Given the description of an element on the screen output the (x, y) to click on. 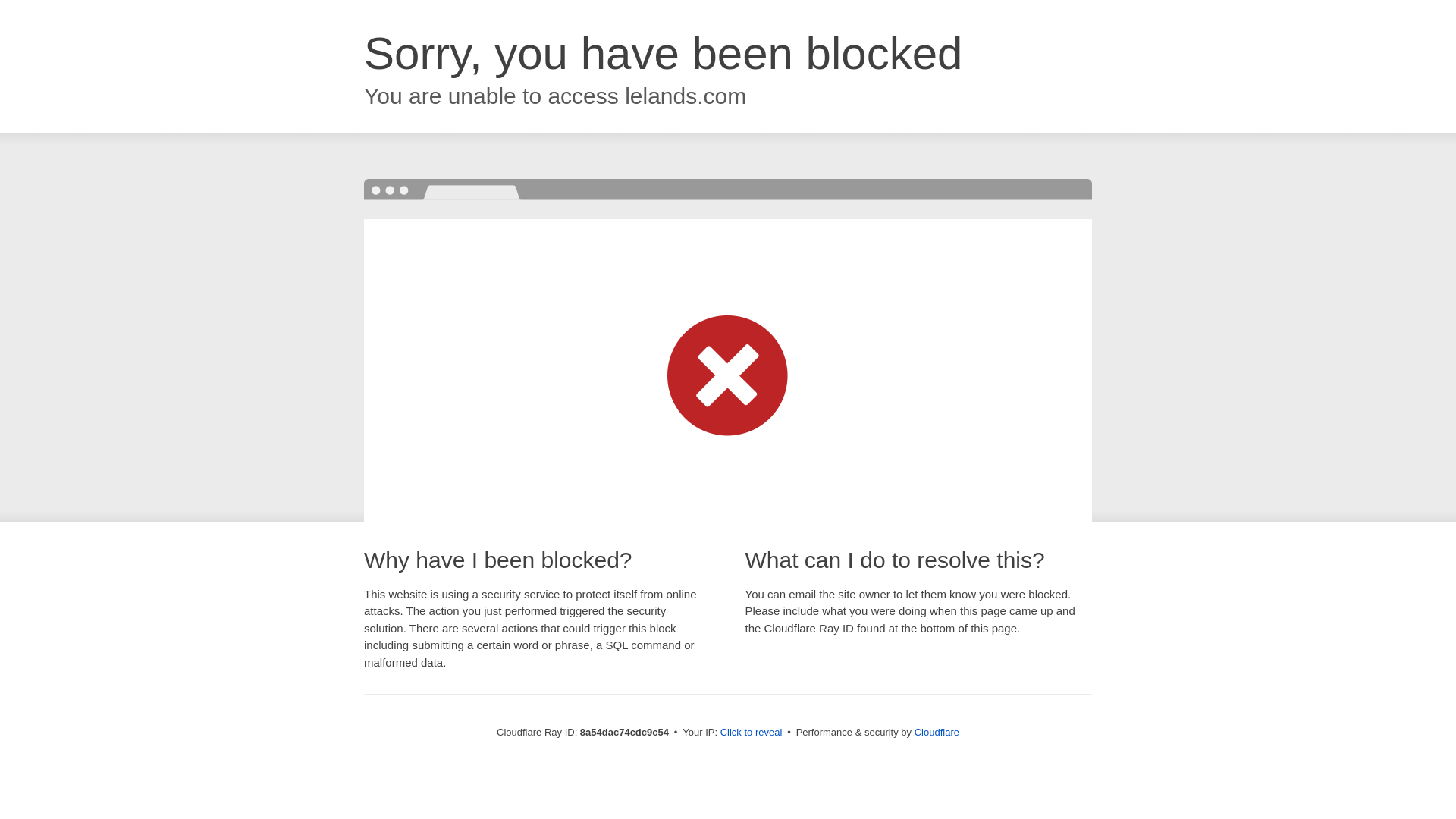
Click to reveal (751, 732)
Cloudflare (936, 731)
